Given the description of an element on the screen output the (x, y) to click on. 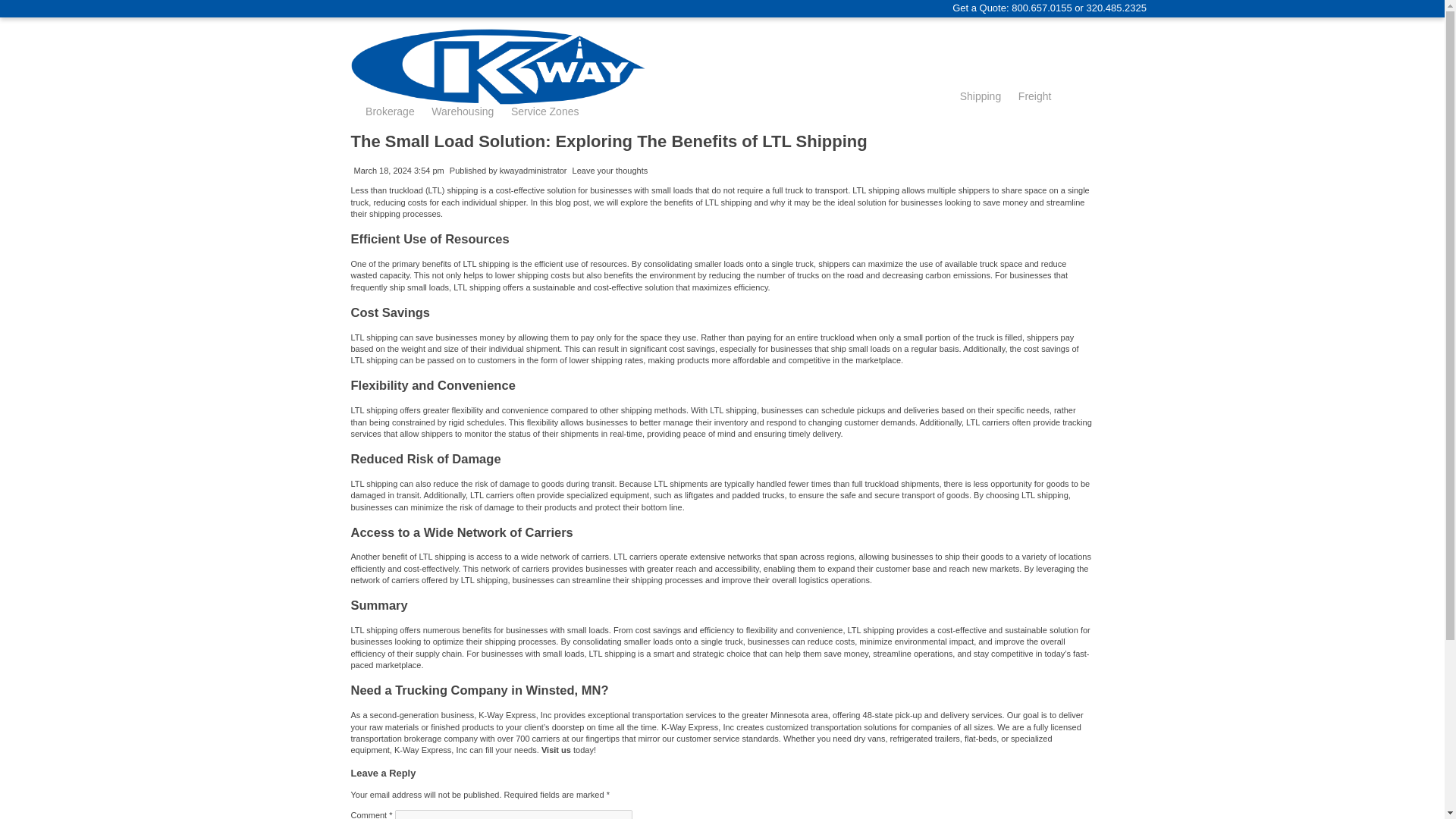
kwayadministrator (533, 170)
Posts by kwayadministrator (533, 170)
Freight (1034, 96)
Leave your thoughts (609, 170)
Service Zones (544, 111)
Shipping (980, 96)
Warehousing (461, 111)
Visit us (555, 749)
